Given the description of an element on the screen output the (x, y) to click on. 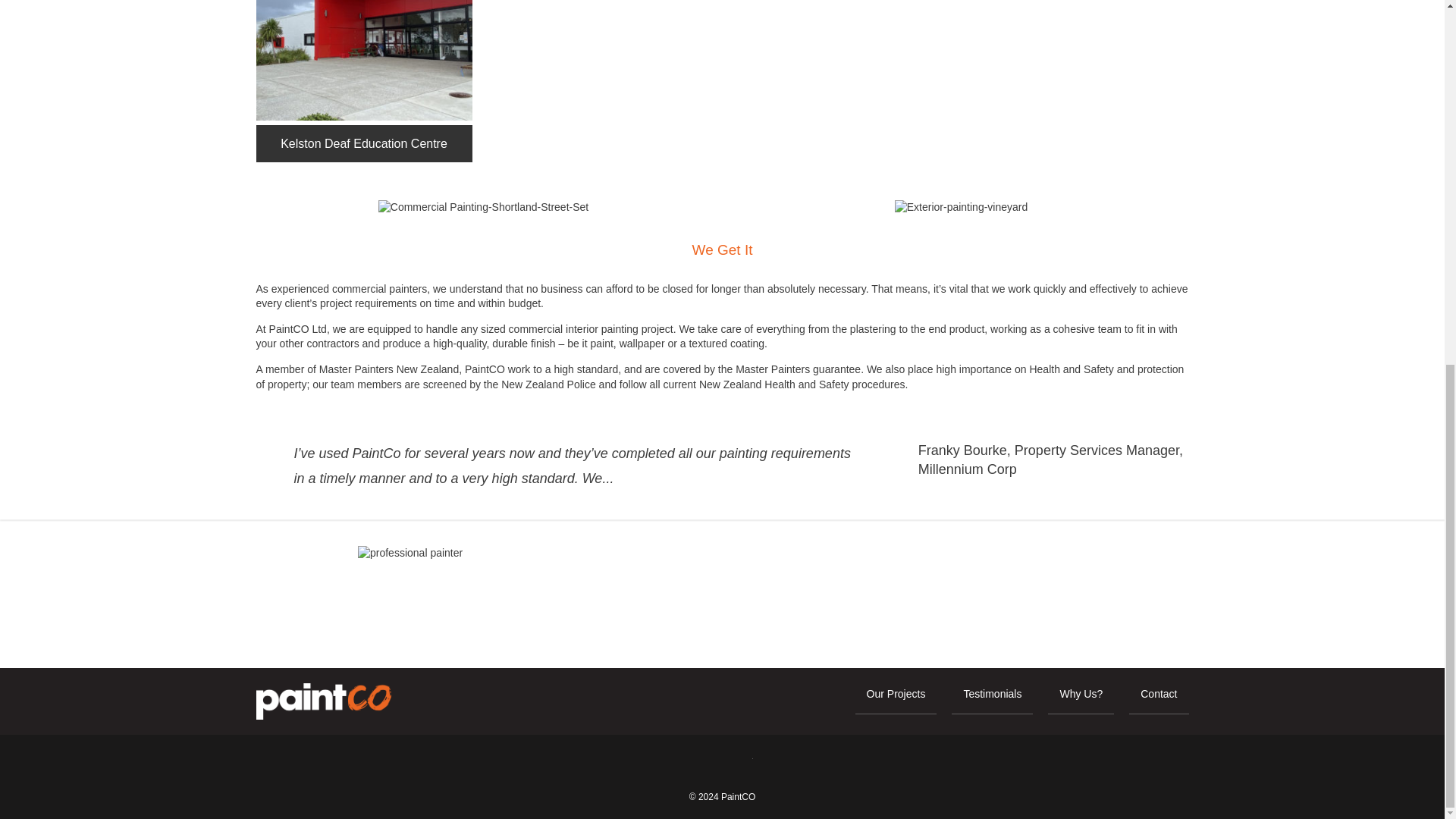
Contact (1158, 700)
Our Projects (896, 700)
Testimonials (992, 700)
Kelston Deaf Education Centre (363, 60)
Why Us? (1080, 700)
Facebook (704, 763)
Painting-the-Shortland-Street-Set (483, 207)
ArchiPro (739, 763)
PaintCO (737, 796)
Exterior-painting-vineyard (961, 207)
